Given the description of an element on the screen output the (x, y) to click on. 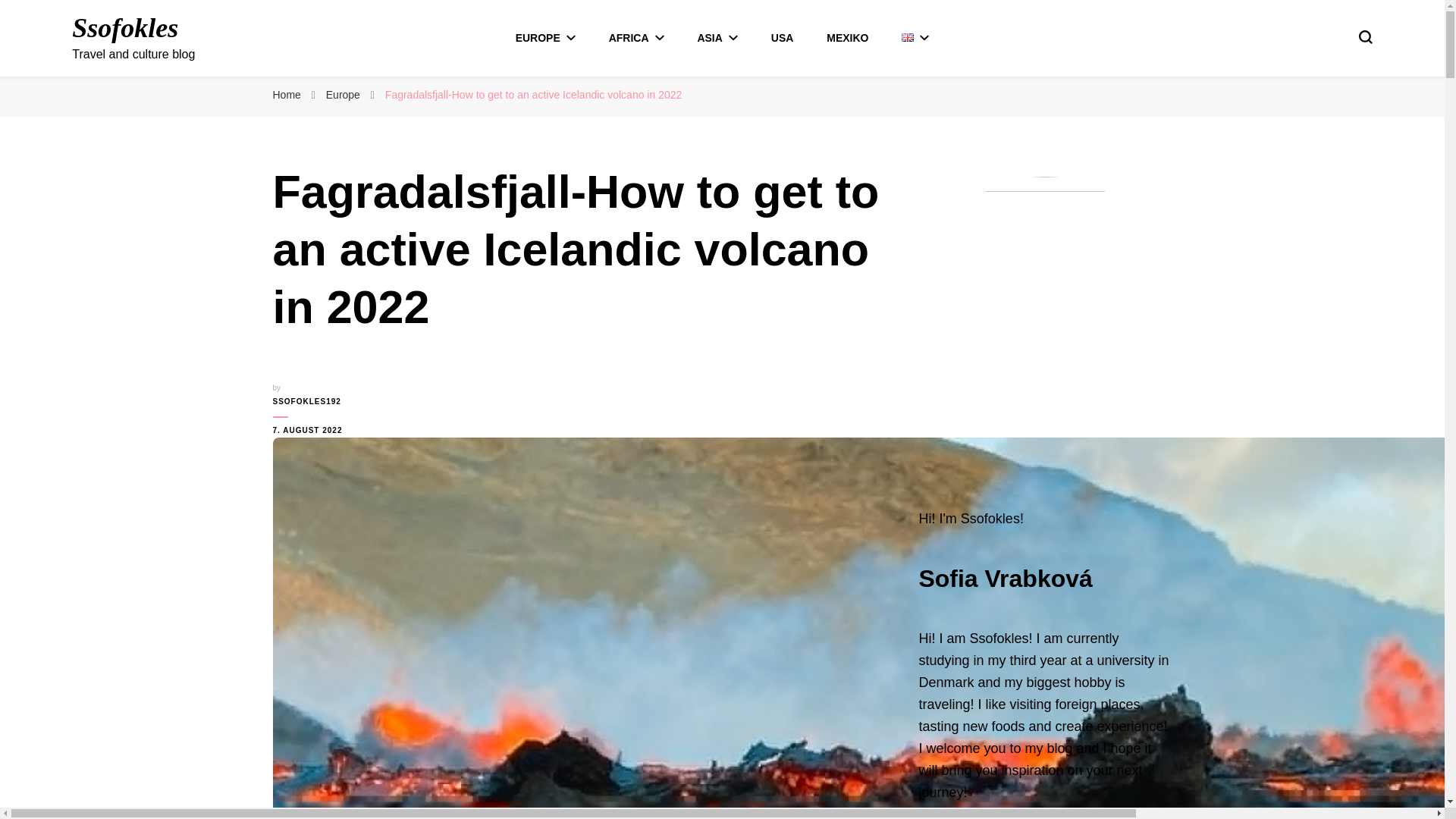
Ssofokles (124, 28)
